Given the description of an element on the screen output the (x, y) to click on. 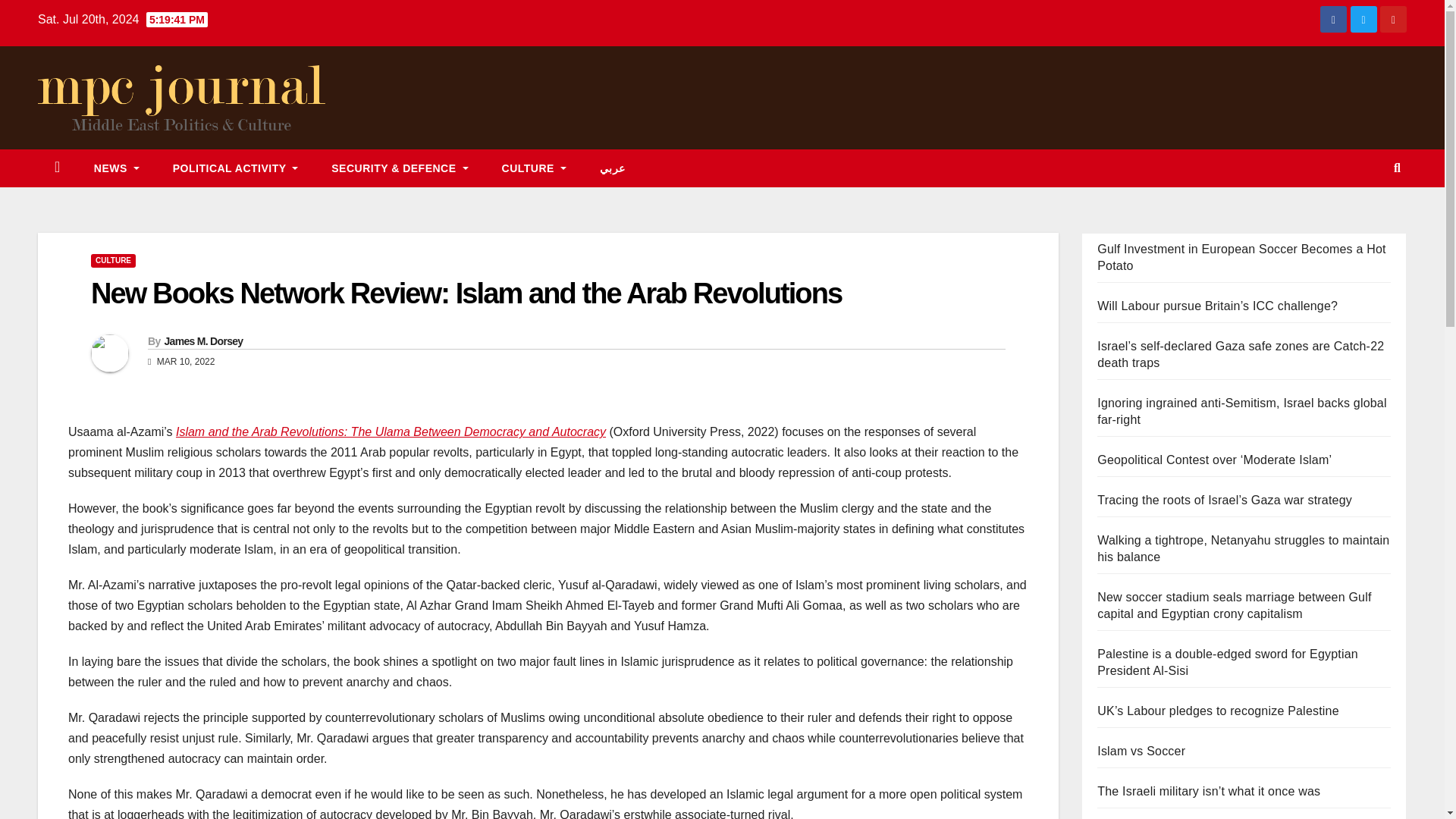
CULTURE (112, 260)
POLITICAL ACTIVITY (234, 168)
New Books Network Review: Islam and the Arab Revolutions (465, 293)
NEWS (116, 168)
Political activity (234, 168)
News (116, 168)
James M. Dorsey (203, 340)
CULTURE (533, 168)
